Given the description of an element on the screen output the (x, y) to click on. 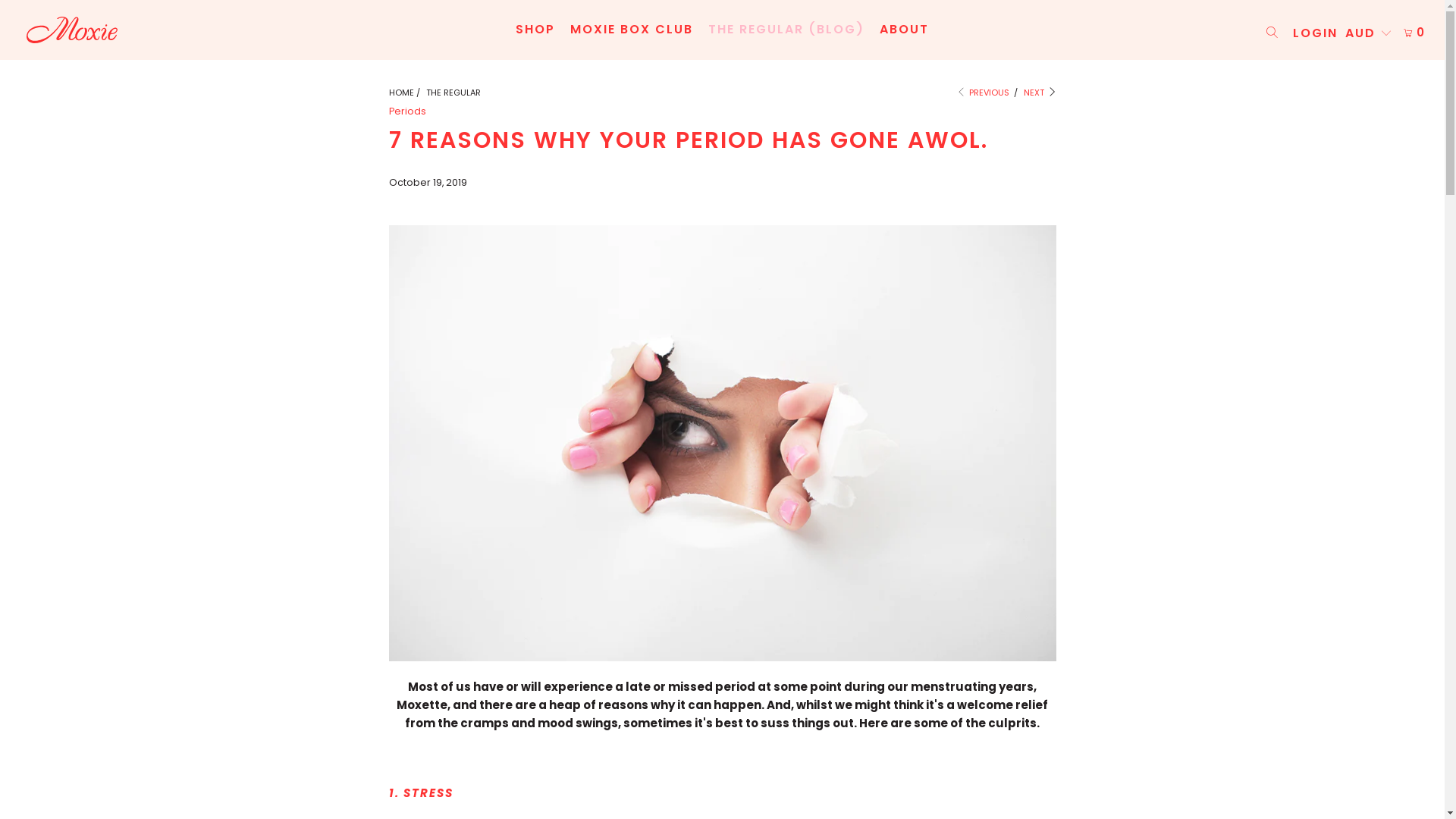
Moxie Element type: hover (163, 34)
NEXT Element type: text (1039, 92)
THE REGULAR (BLOG) Element type: text (786, 29)
SHOP Element type: text (535, 29)
LOGIN Element type: text (1315, 33)
0 Element type: text (1413, 33)
HOME Element type: text (400, 92)
THE REGULAR Element type: text (453, 92)
PREVIOUS Element type: text (982, 92)
MOXIE BOX CLUB Element type: text (631, 29)
ABOUT Element type: text (903, 29)
AUD Element type: text (1367, 33)
Periods Element type: text (406, 110)
Search Element type: hover (1270, 33)
